Given the description of an element on the screen output the (x, y) to click on. 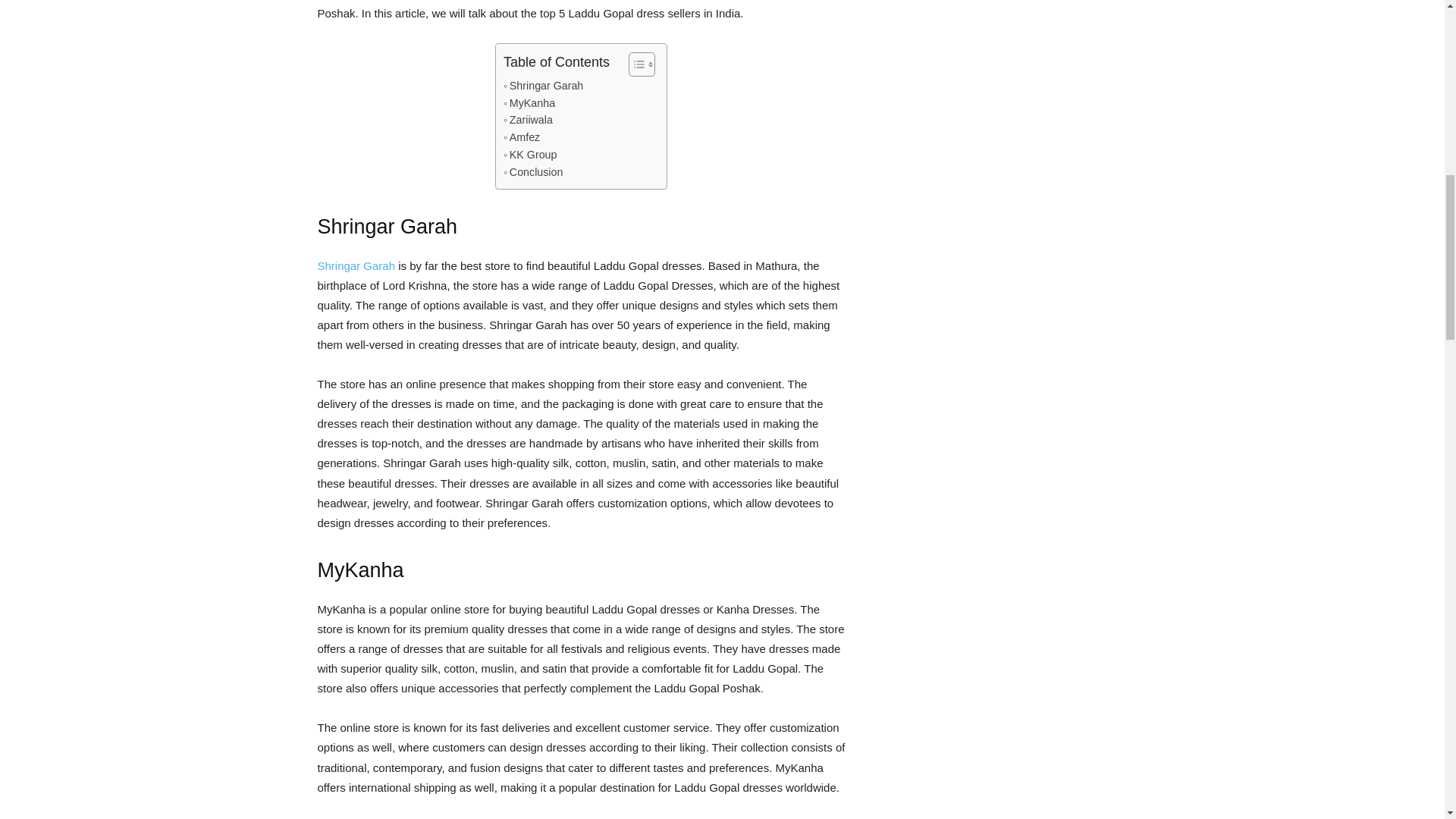
KK Group (529, 154)
MyKanha (528, 103)
Zariiwala (528, 119)
Shringar Garah (543, 85)
Conclusion (532, 171)
Amfez (521, 137)
